Given the description of an element on the screen output the (x, y) to click on. 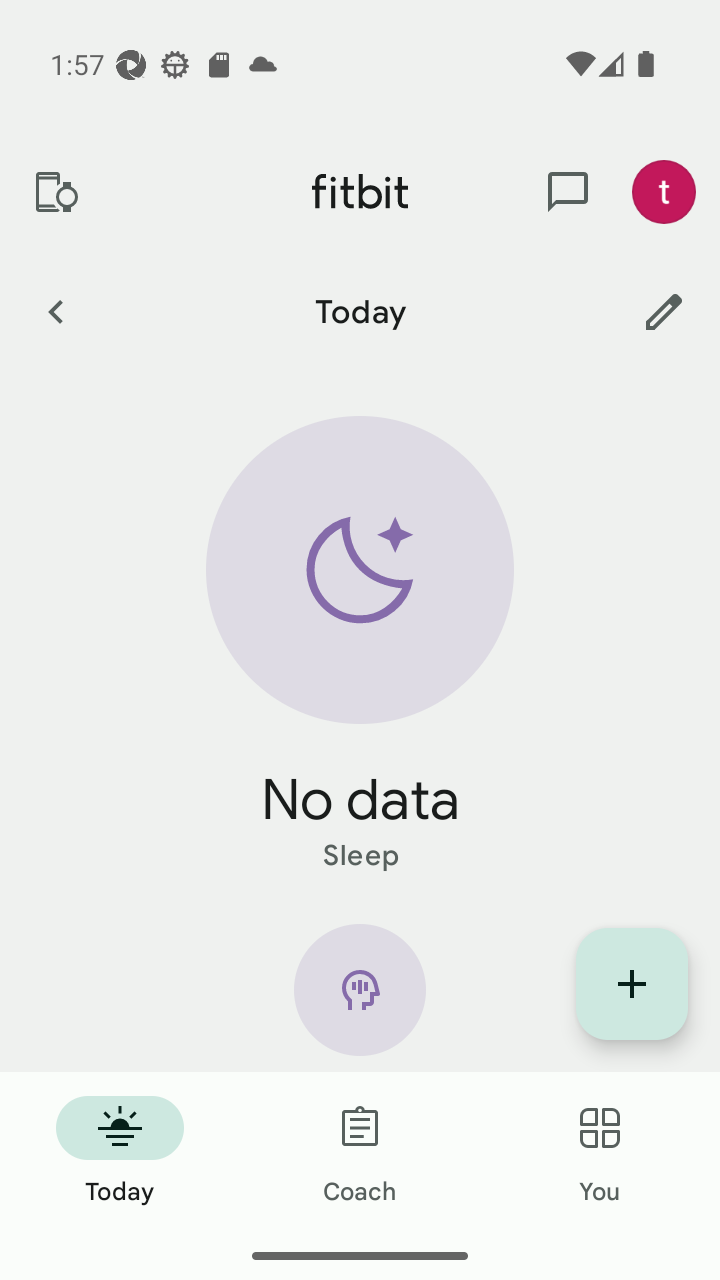
Devices and apps (55, 191)
messages and notifications (567, 191)
Previous Day (55, 311)
Customize (664, 311)
Sleep static hero arc No data Sleep (359, 645)
Mindfulness icon (360, 998)
Display list of quick log entries (632, 983)
Coach (359, 1151)
You (600, 1151)
